Given the description of an element on the screen output the (x, y) to click on. 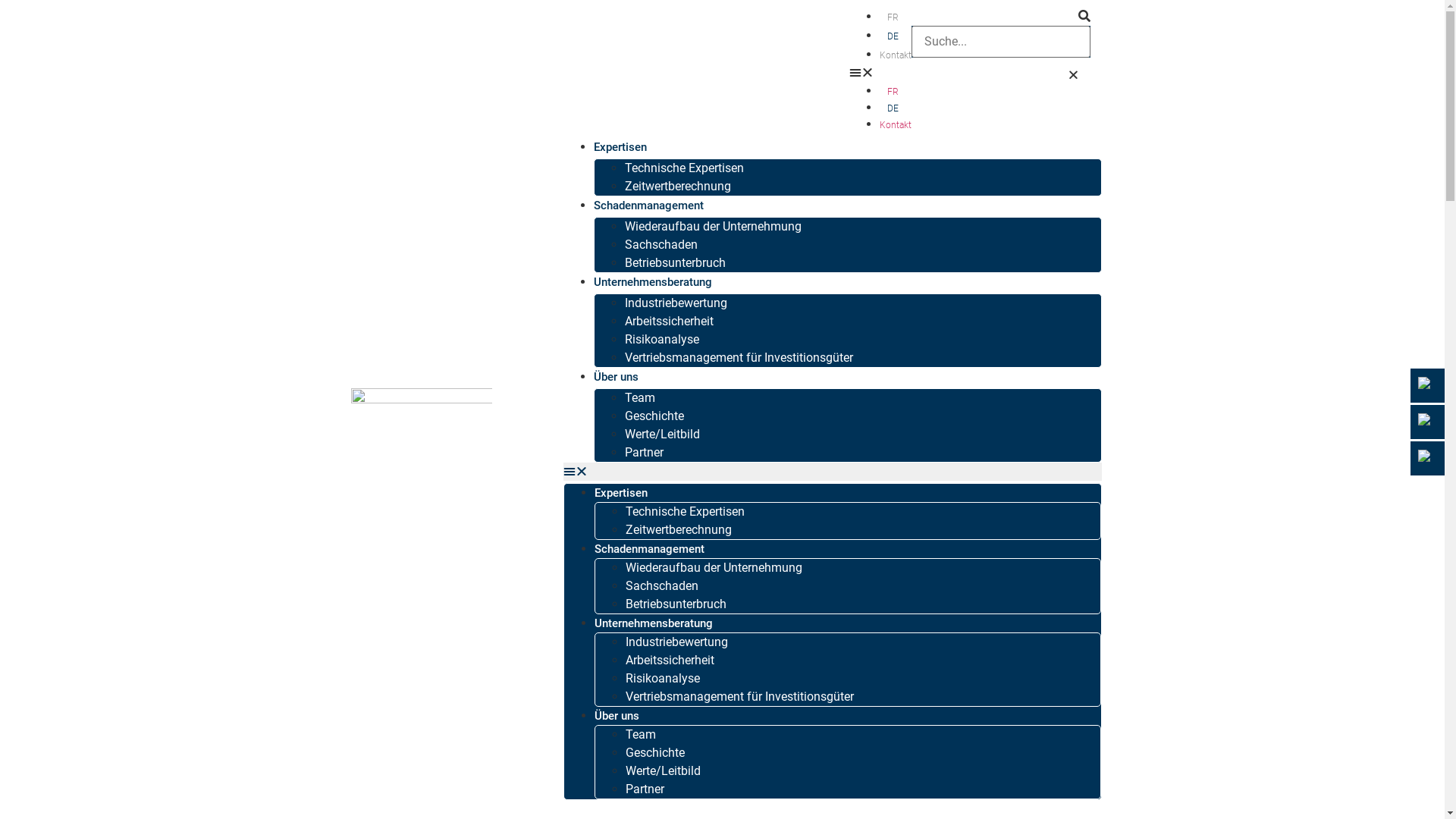
Zeitwertberechnung Element type: text (677, 185)
Industriebewertung Element type: text (675, 302)
Arbeitssicherheit Element type: text (668, 659)
Betriebsunterbruch Element type: text (674, 603)
Zeitwertberechnung Element type: text (677, 529)
Schadenmanagement Element type: text (649, 548)
Sachschaden Element type: text (660, 244)
Schadenmanagement Element type: text (647, 205)
Industriebewertung Element type: text (675, 641)
FR Element type: text (895, 17)
Anrufen Element type: hover (1429, 421)
Arbeitssicherheit Element type: text (668, 320)
DE Element type: text (895, 108)
Kontakt Element type: hover (1429, 458)
Werte/Leitbild Element type: text (661, 770)
Partner Element type: text (643, 452)
Wiederaufbau der Unternehmung Element type: text (712, 226)
Wiederaufbau der Unternehmung Element type: text (712, 567)
DE Element type: text (895, 36)
Team Element type: text (639, 397)
Werte/Leitbild Element type: text (661, 433)
Sachschaden Element type: text (660, 585)
FR Element type: text (895, 91)
Technische Expertisen Element type: text (683, 167)
Geschichte Element type: text (654, 415)
Risikoanalyse Element type: text (661, 339)
Geschichte Element type: text (654, 752)
Kontakt Element type: text (895, 54)
Partner Element type: text (643, 788)
Kontakt Element type: text (895, 124)
Expertisen Element type: text (620, 492)
Technische Expertisen Element type: text (683, 511)
Betriebsunterbruch Element type: text (674, 262)
Team Element type: hover (1429, 385)
Risikoanalyse Element type: text (661, 678)
Team Element type: text (639, 734)
Expertisen Element type: text (619, 146)
